Given the description of an element on the screen output the (x, y) to click on. 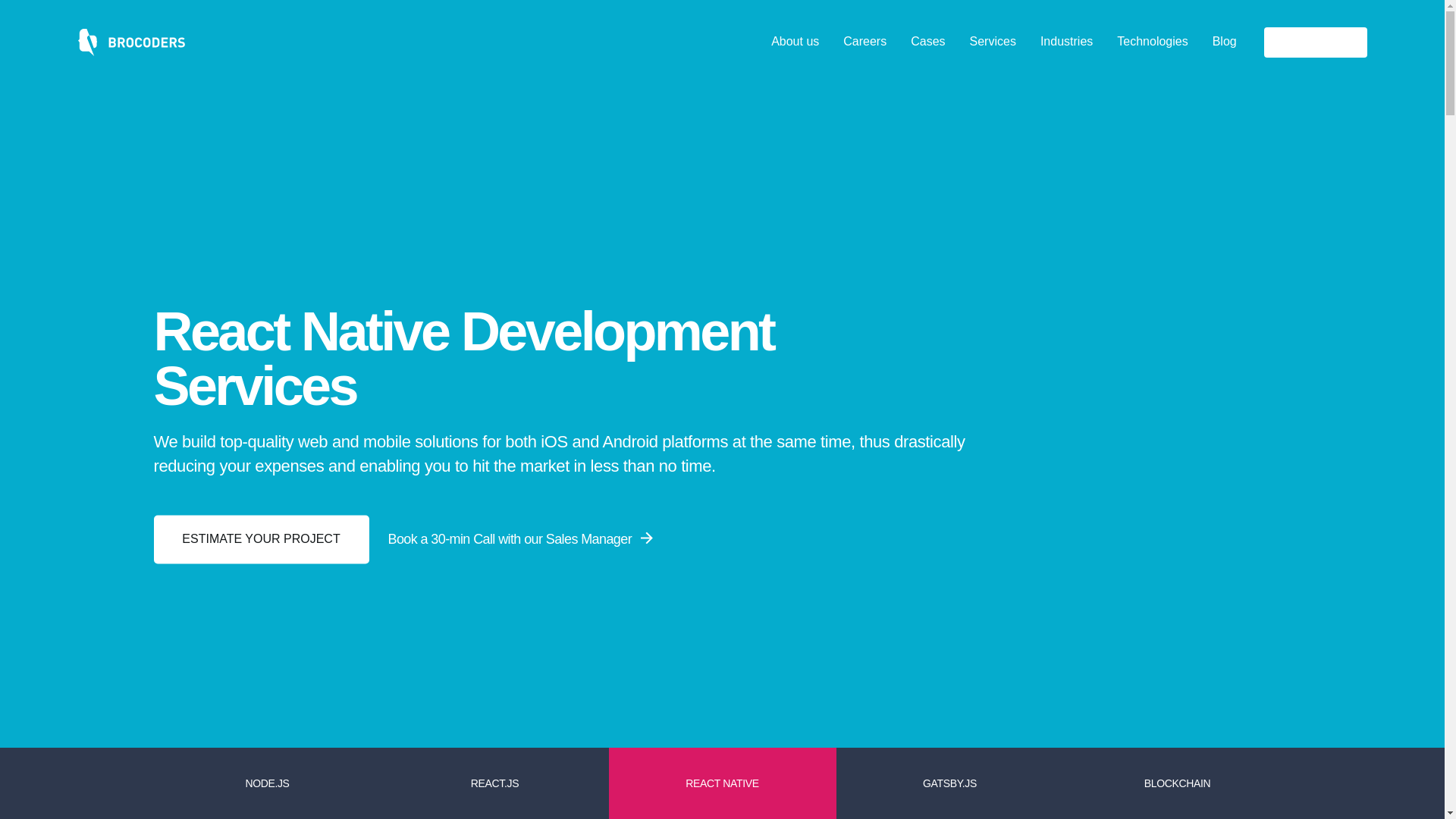
About us (794, 41)
